Given the description of an element on the screen output the (x, y) to click on. 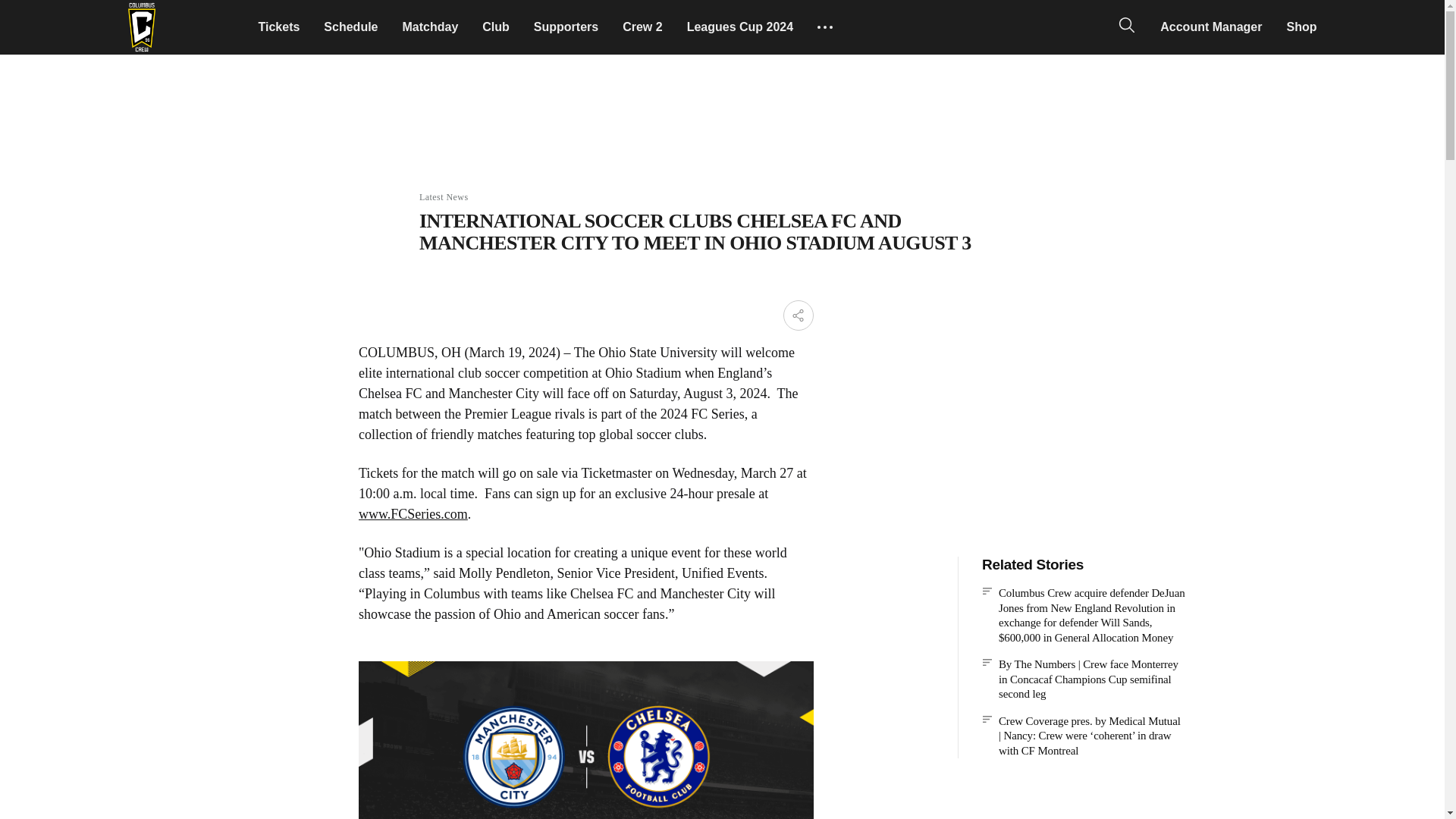
Club (495, 26)
Leagues Cup 2024 (740, 26)
Account Manager (1211, 26)
Shop (1300, 26)
Matchday (430, 26)
Supporters (565, 26)
Schedule (350, 26)
Crew 2 (642, 26)
Tickets (278, 26)
Columbus Crew (141, 27)
